Given the description of an element on the screen output the (x, y) to click on. 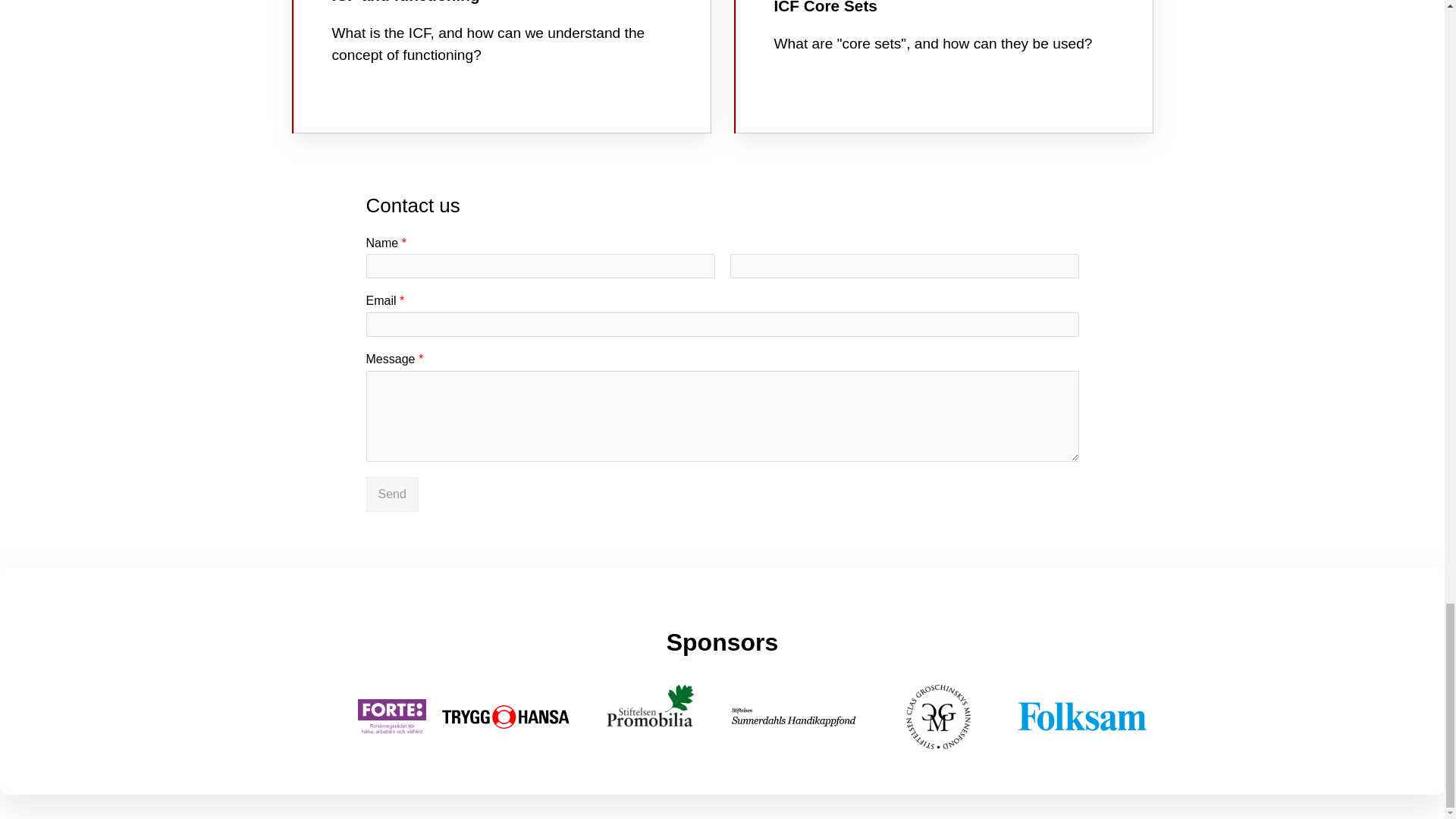
Send (391, 493)
